Given the description of an element on the screen output the (x, y) to click on. 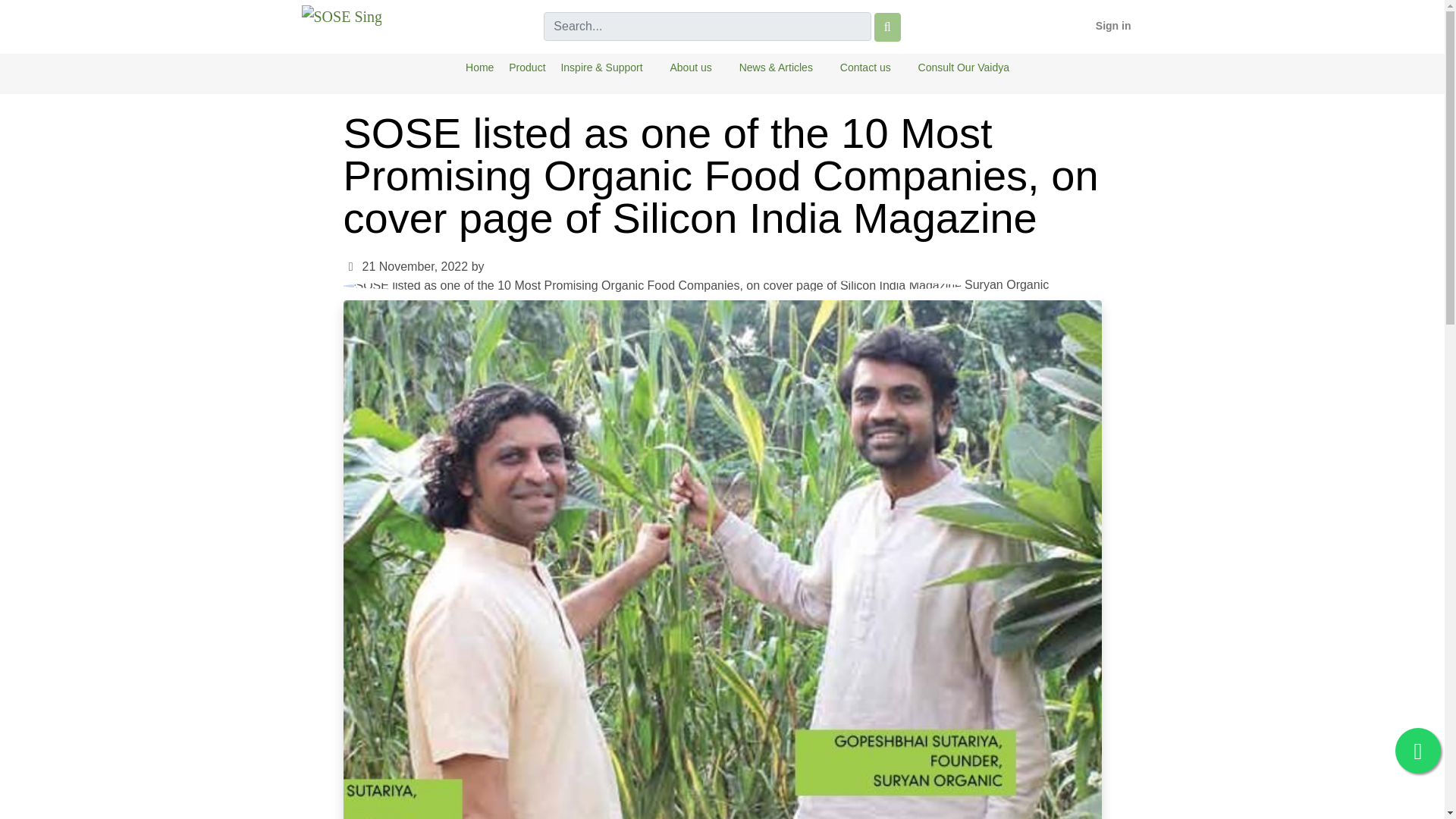
Home (478, 67)
Product (526, 67)
Search (888, 27)
SOSE Singapore (341, 14)
Sign in (1112, 26)
